Given the description of an element on the screen output the (x, y) to click on. 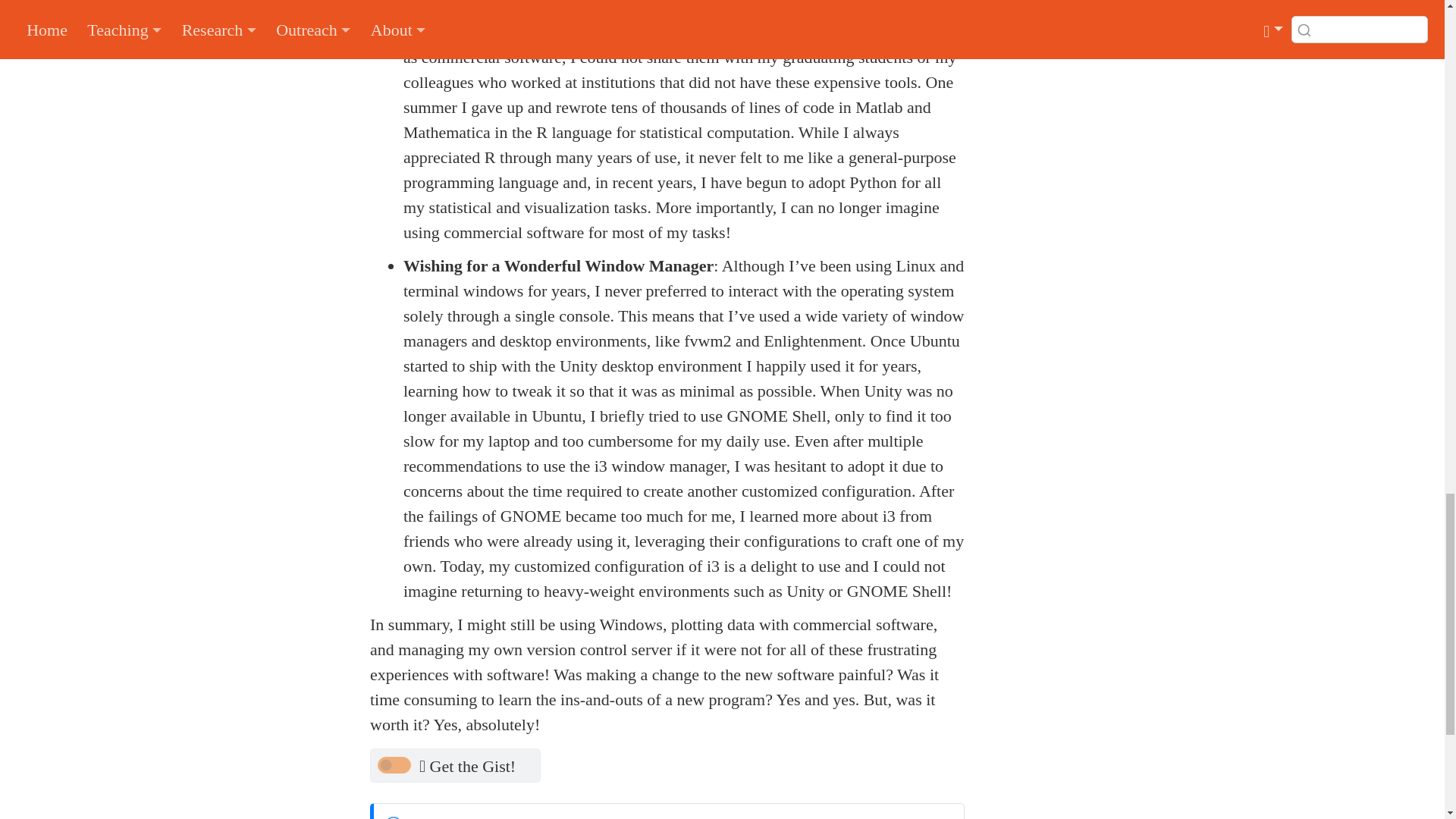
on (393, 764)
